Given the description of an element on the screen output the (x, y) to click on. 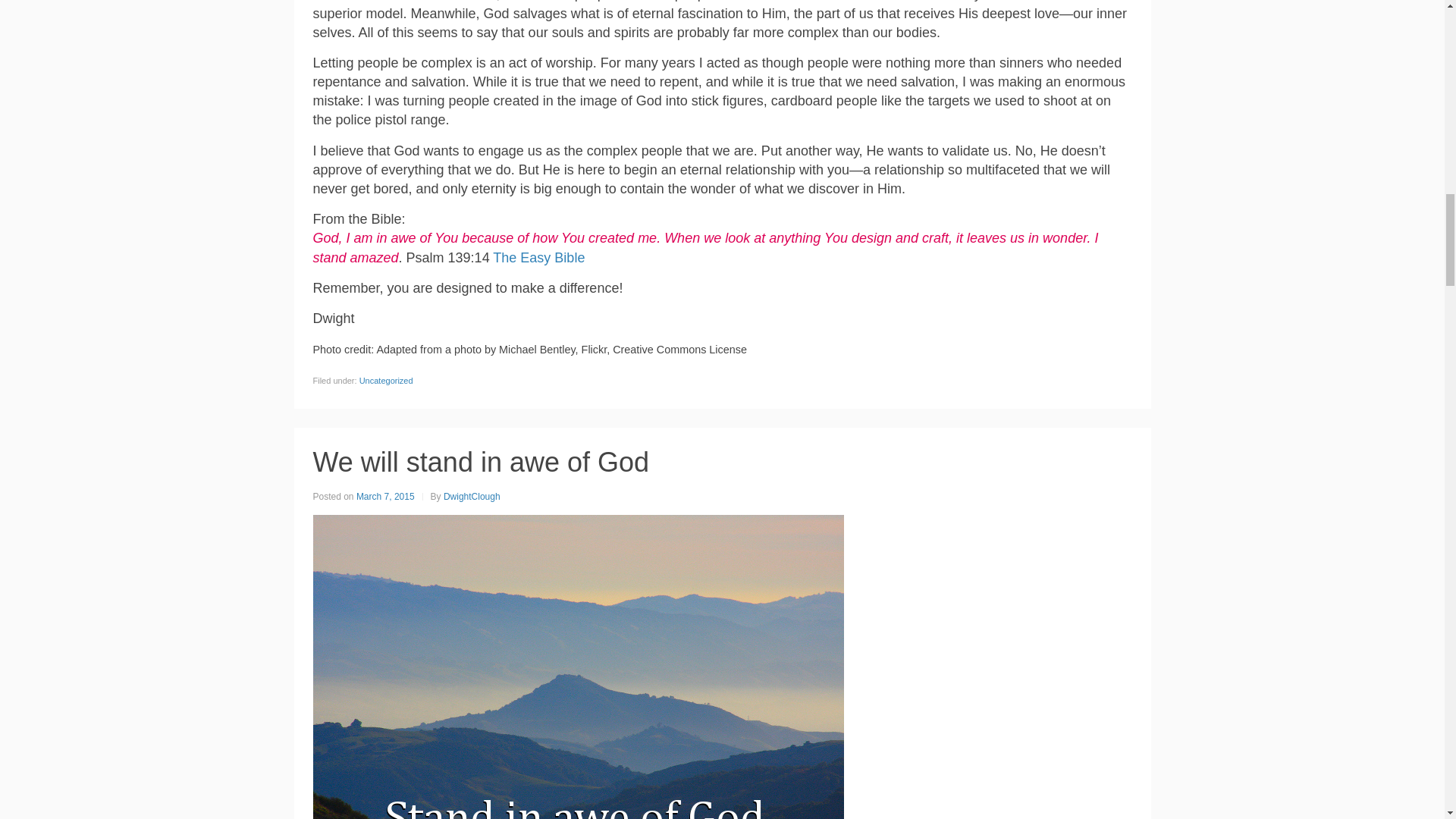
The Easy Bible (539, 257)
We will stand in awe of God (481, 461)
We will stand in awe of God (481, 461)
Uncategorized (386, 379)
DwightClough (472, 496)
